Given the description of an element on the screen output the (x, y) to click on. 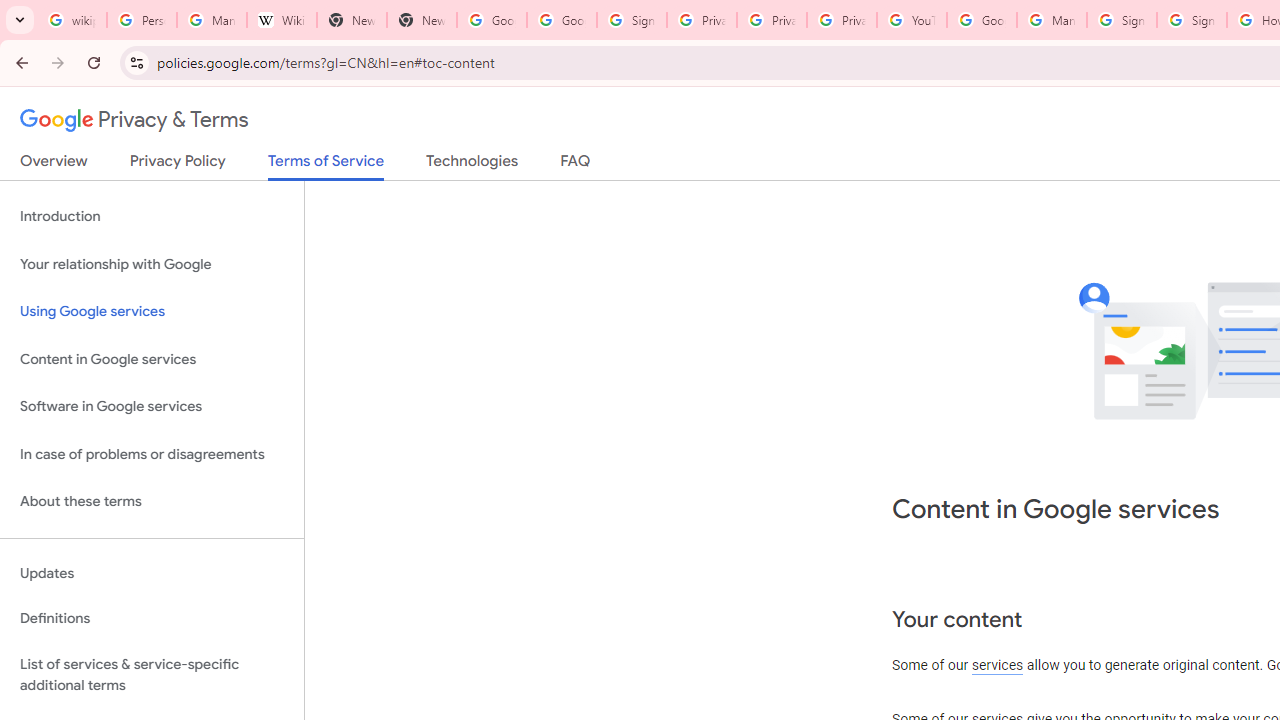
Sign in - Google Accounts (1121, 20)
Personalization & Google Search results - Google Search Help (141, 20)
Sign in - Google Accounts (631, 20)
In case of problems or disagreements (152, 453)
Software in Google services (152, 407)
Google Drive: Sign-in (561, 20)
New Tab (351, 20)
Content in Google services (152, 358)
Wikipedia:Edit requests - Wikipedia (282, 20)
